Given the description of an element on the screen output the (x, y) to click on. 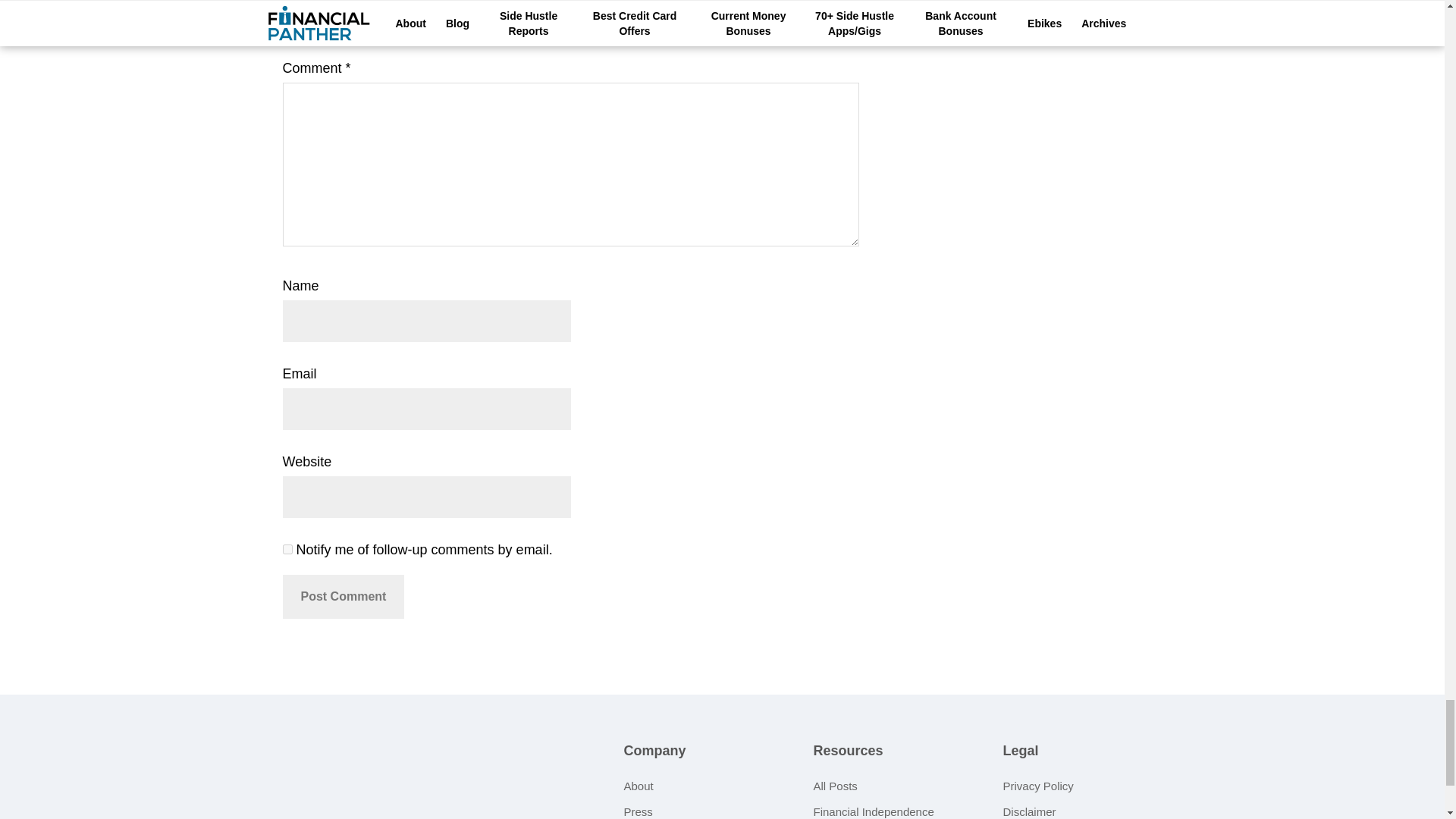
Post Comment (343, 596)
subscribe (287, 549)
